Given the description of an element on the screen output the (x, y) to click on. 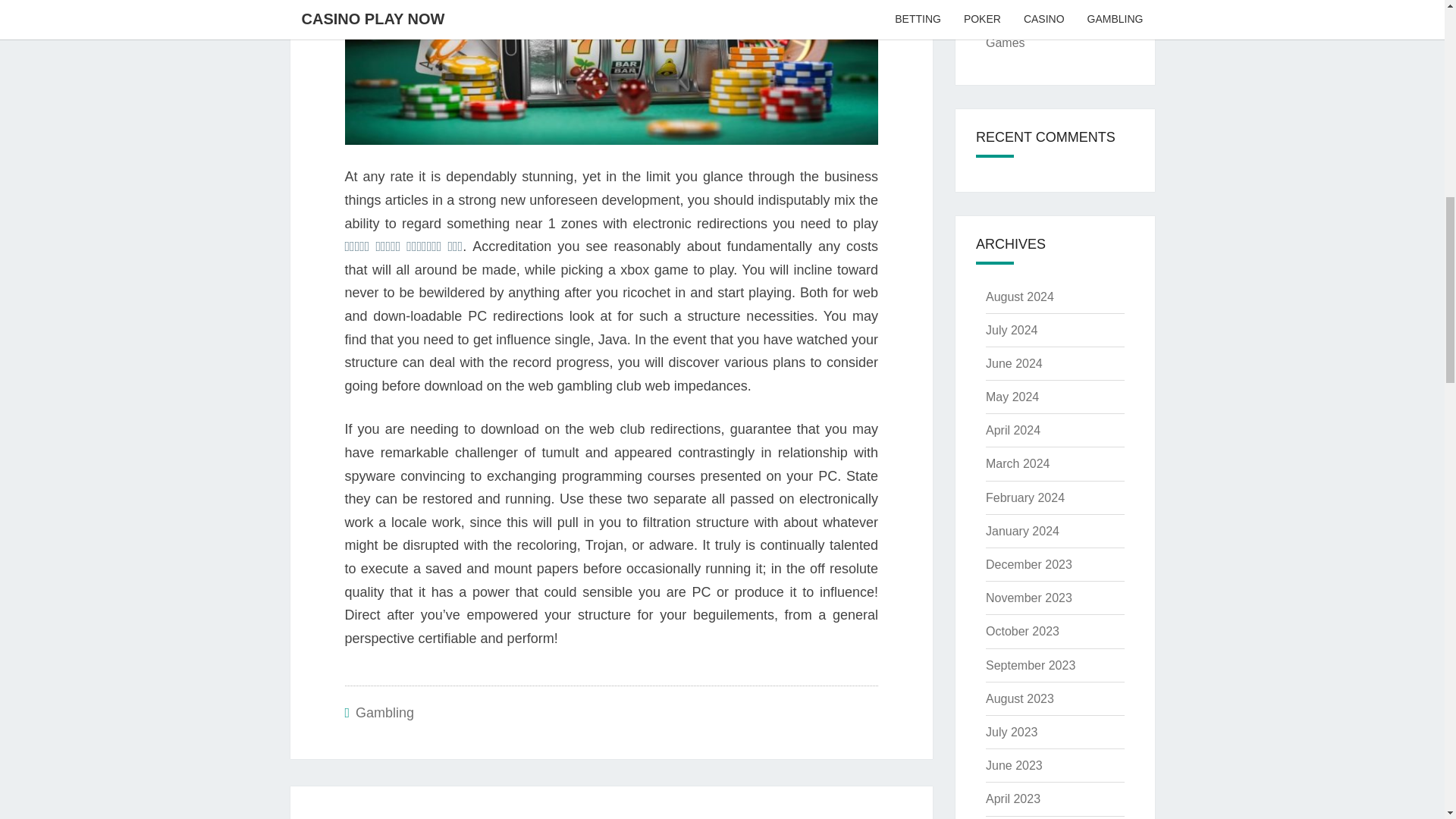
May 2024 (1012, 396)
December 2023 (1028, 563)
February 2024 (450, 816)
January 2024 (1024, 497)
Gambling (1022, 530)
November 2023 (772, 816)
August 2023 (384, 712)
August 2024 (1028, 597)
